Given the description of an element on the screen output the (x, y) to click on. 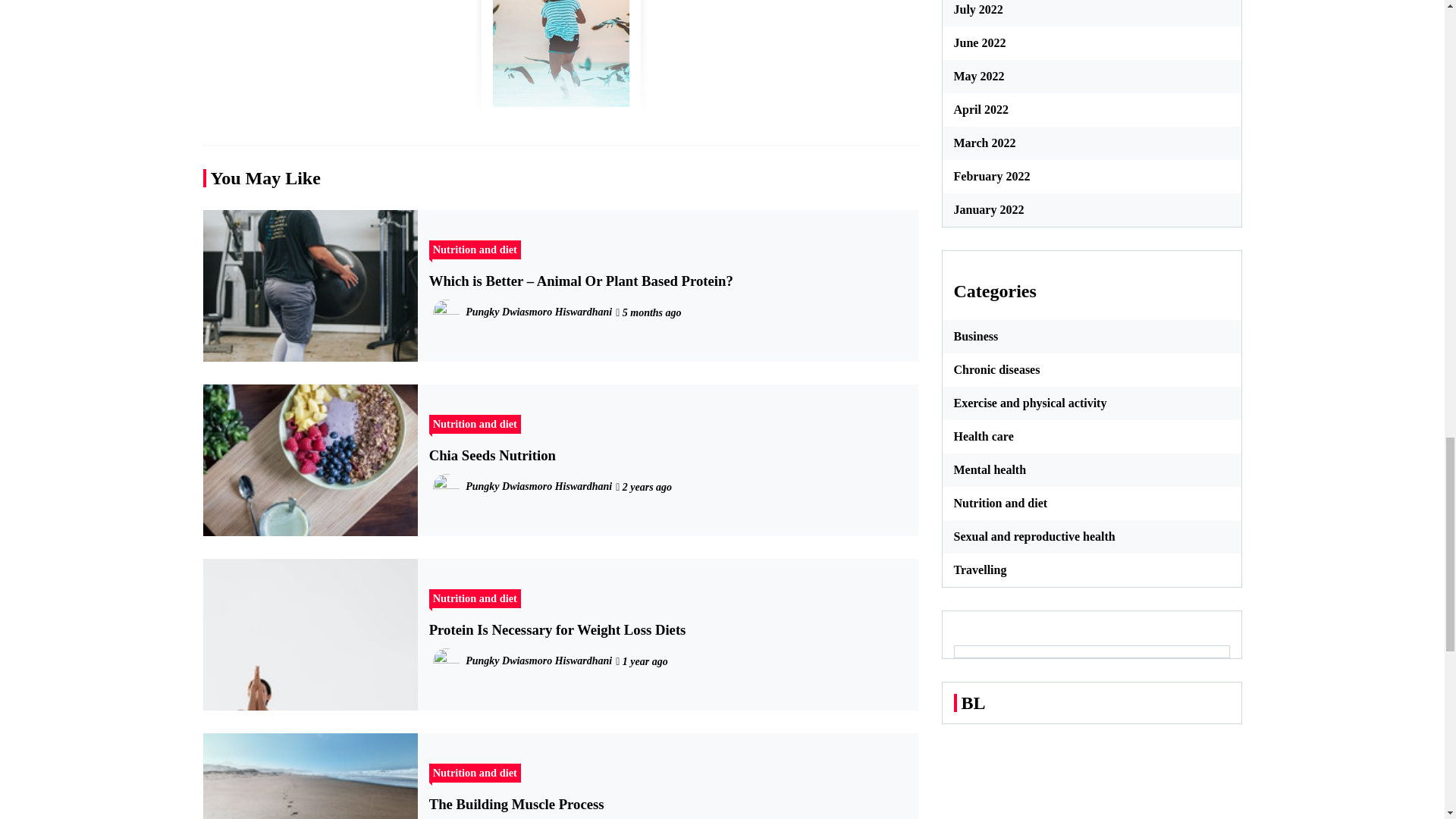
Catkins Diet As a Basis For a Healthy Homemade Cat Diet (560, 58)
